Given the description of an element on the screen output the (x, y) to click on. 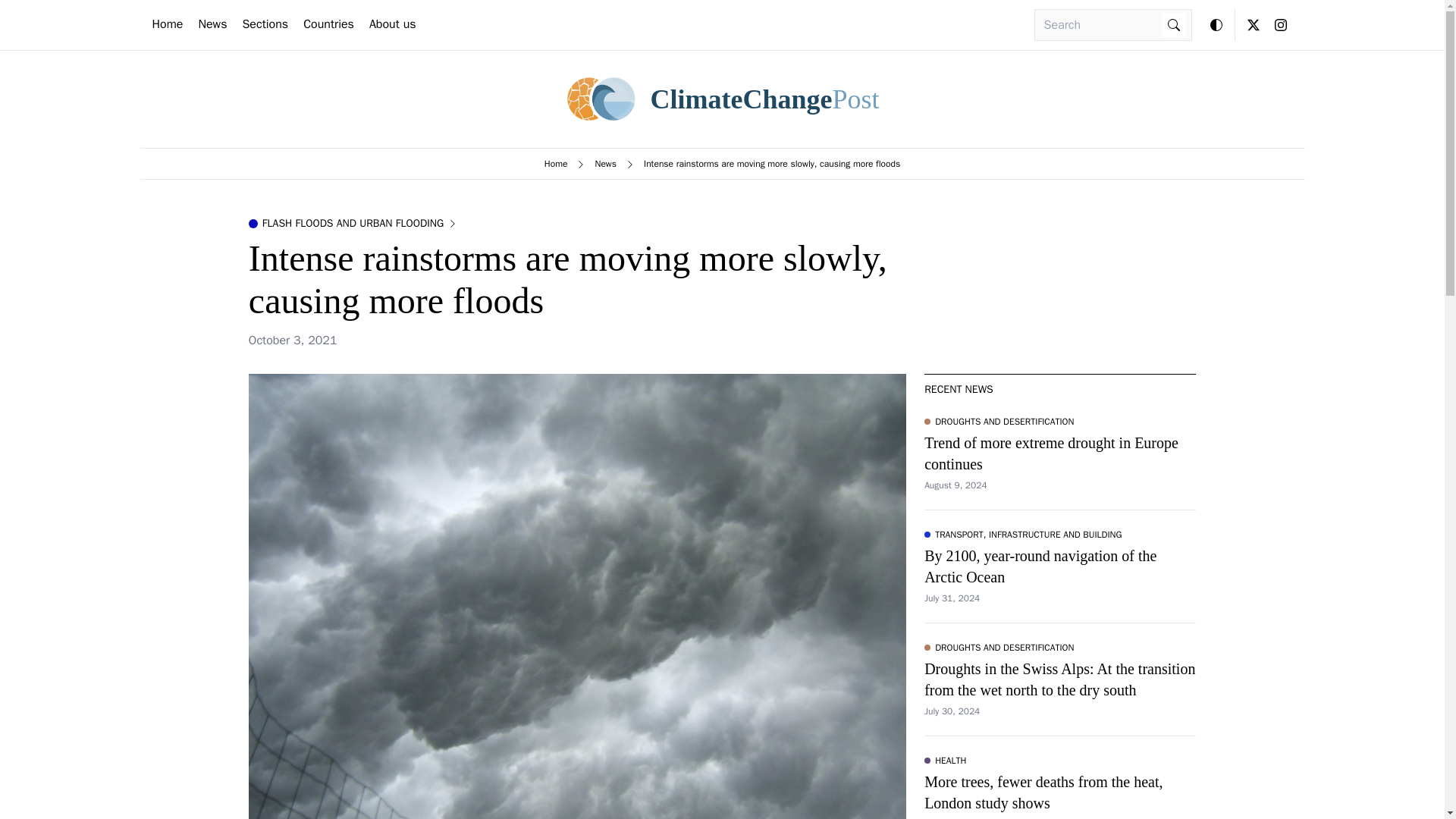
ClimateChangePost (721, 99)
Countries (327, 24)
TRANSPORT, INFRASTRUCTURE AND BUILDING (1022, 534)
About us (392, 24)
HEALTH (945, 760)
RECENT NEWS (958, 389)
FLASH FLOODS AND URBAN FLOODING (352, 223)
